Given the description of an element on the screen output the (x, y) to click on. 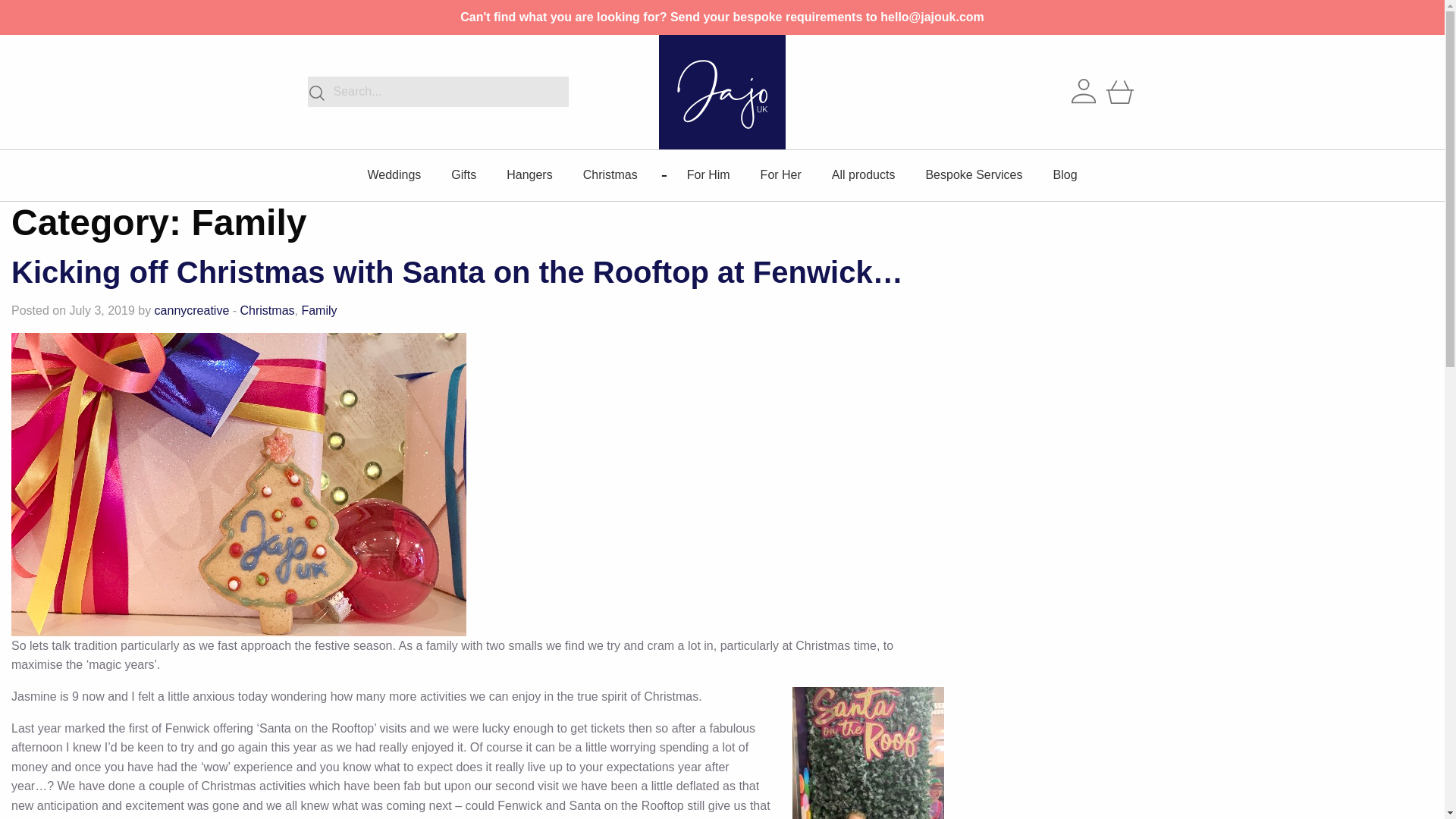
Posts by cannycreative (192, 309)
Search for: (438, 91)
